Given the description of an element on the screen output the (x, y) to click on. 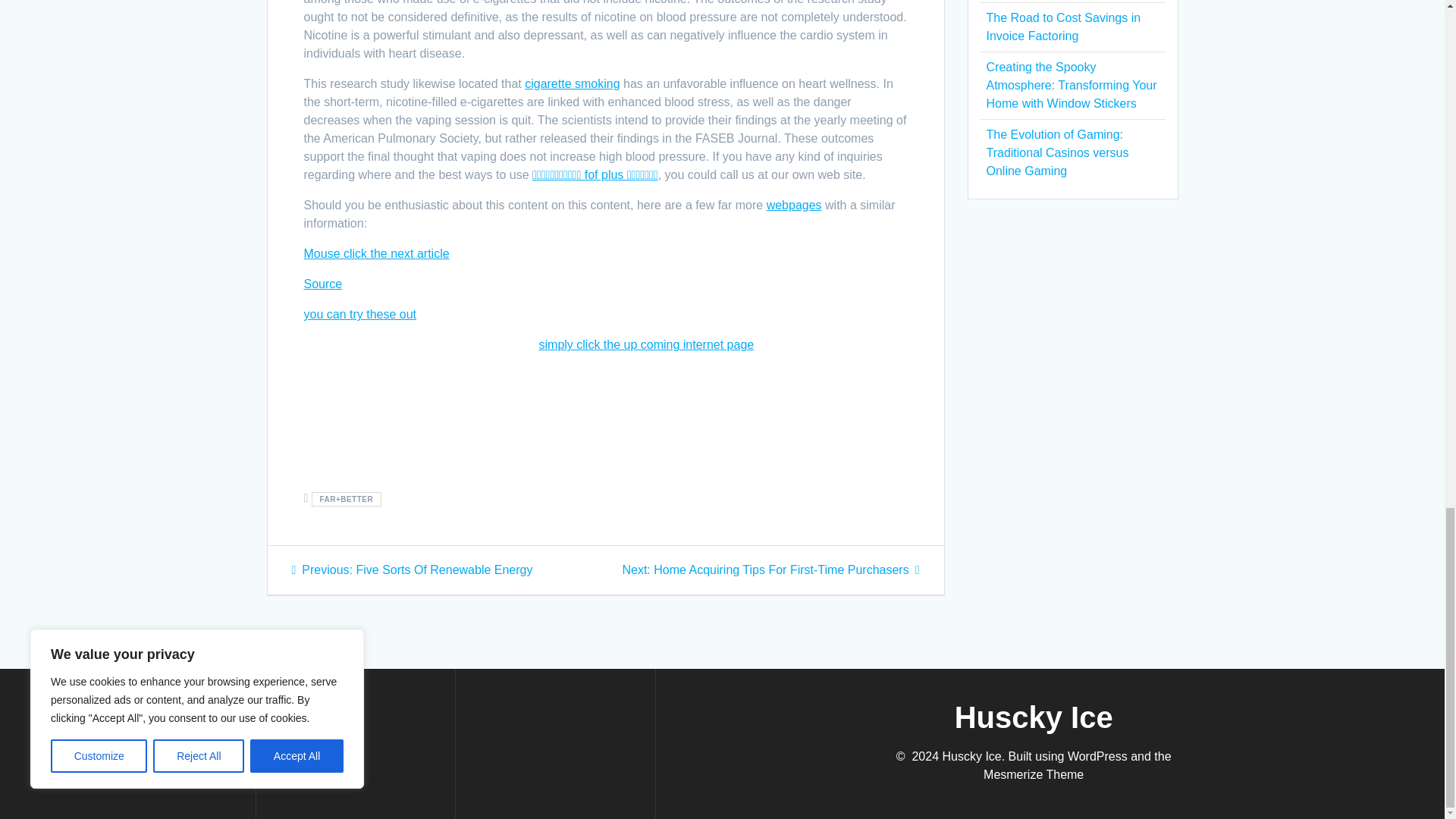
Mouse click the next article (375, 253)
cigarette smoking (572, 83)
you can try these out (359, 314)
webpages (411, 569)
simply click the up coming internet page (794, 205)
Source (646, 344)
